Given the description of an element on the screen output the (x, y) to click on. 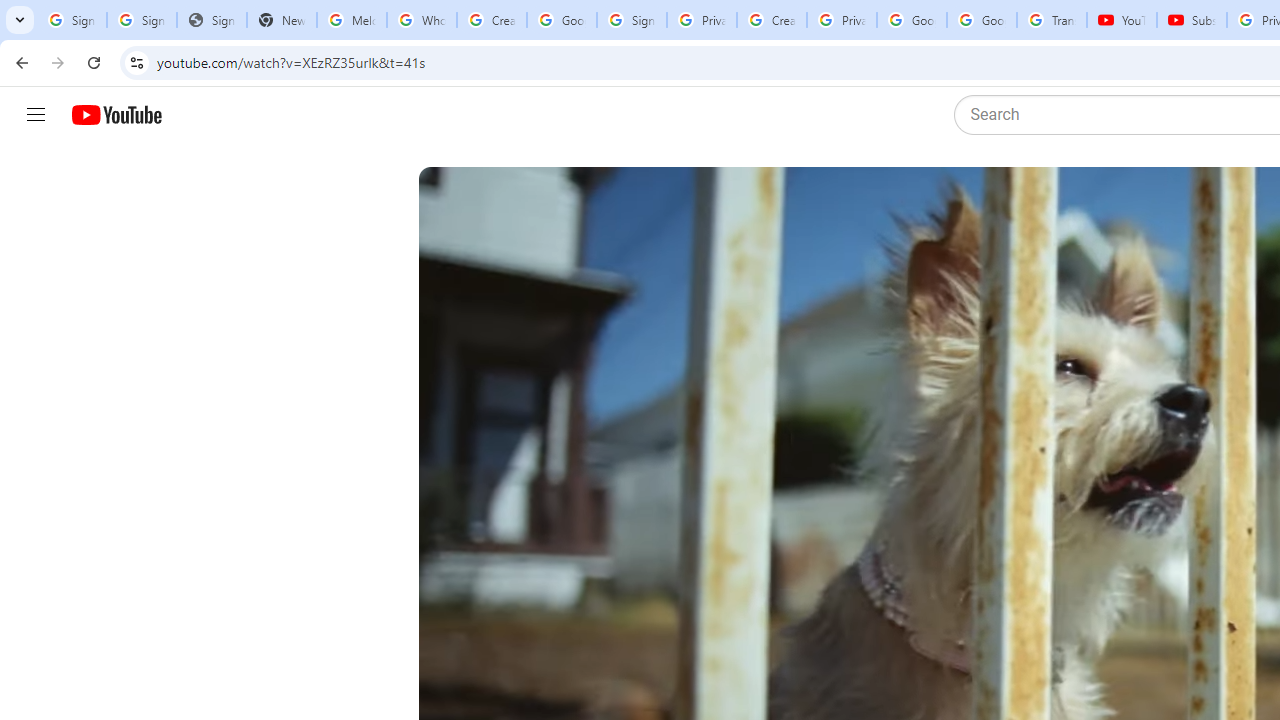
YouTube (1121, 20)
Sign in - Google Accounts (141, 20)
Guide (35, 115)
Sign In - USA TODAY (211, 20)
YouTube Home (116, 115)
Create your Google Account (772, 20)
Who is my administrator? - Google Account Help (421, 20)
